Given the description of an element on the screen output the (x, y) to click on. 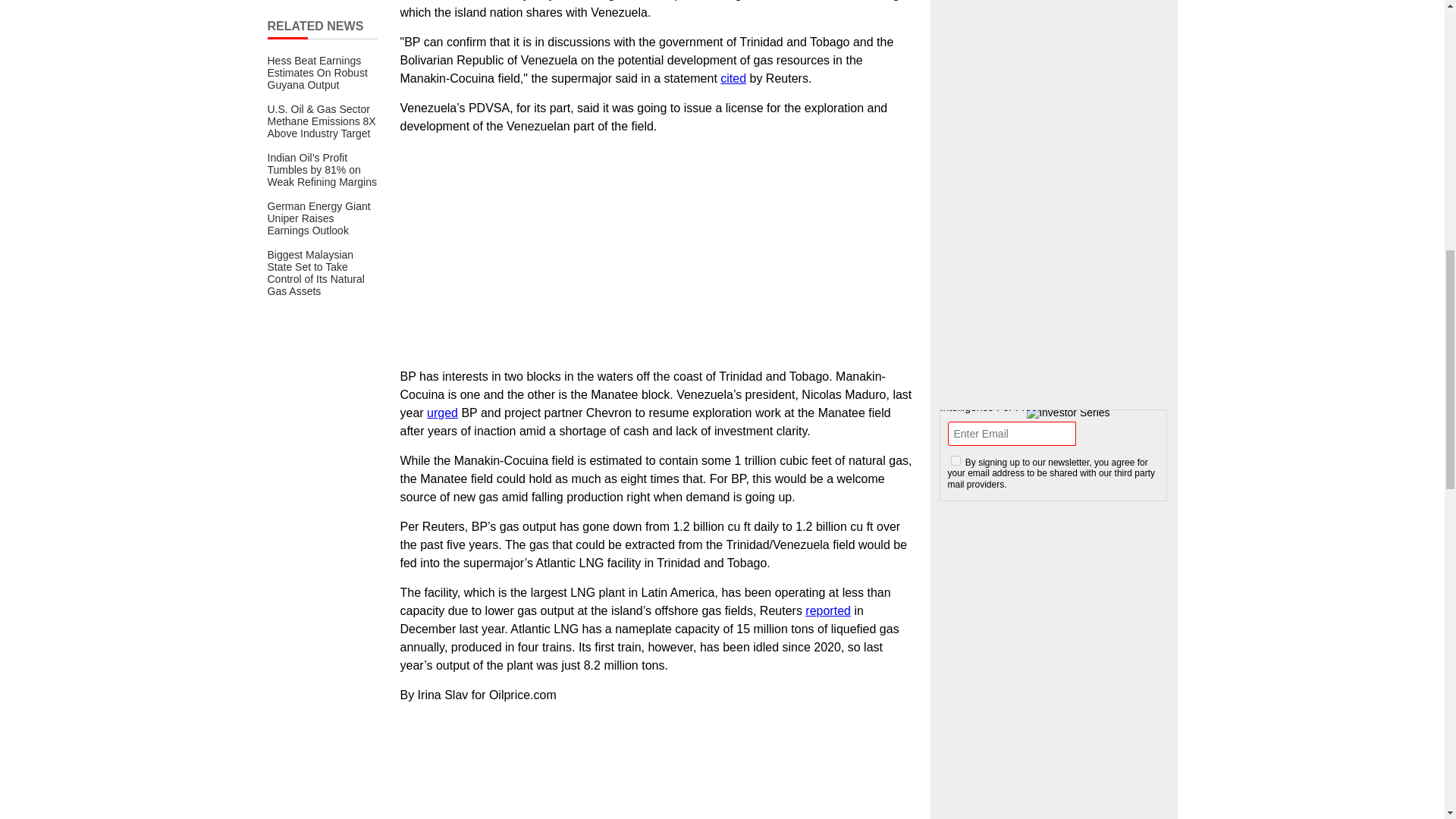
1 (955, 460)
